Given the description of an element on the screen output the (x, y) to click on. 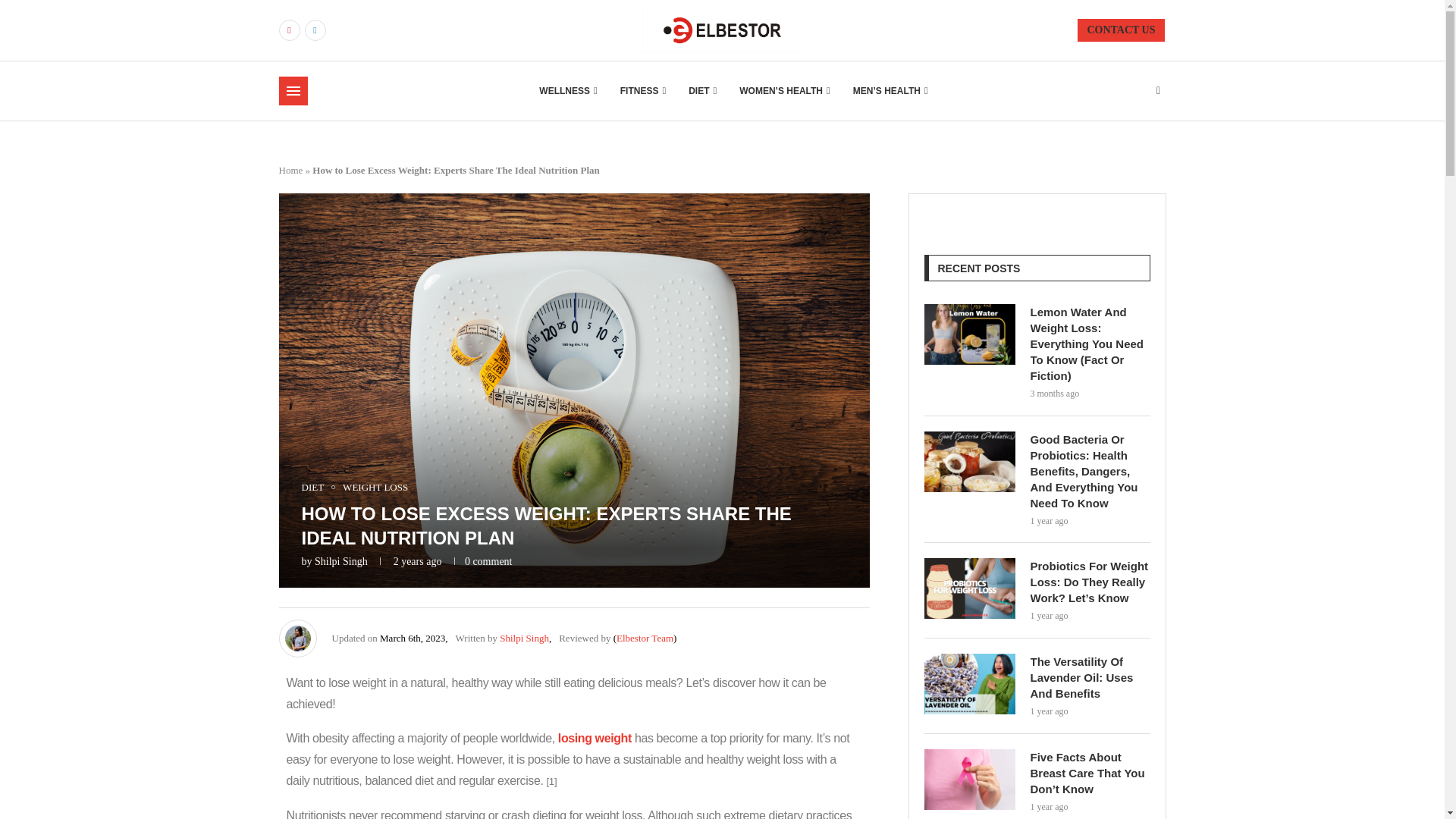
Author Shilpi Singh (523, 637)
